Given the description of an element on the screen output the (x, y) to click on. 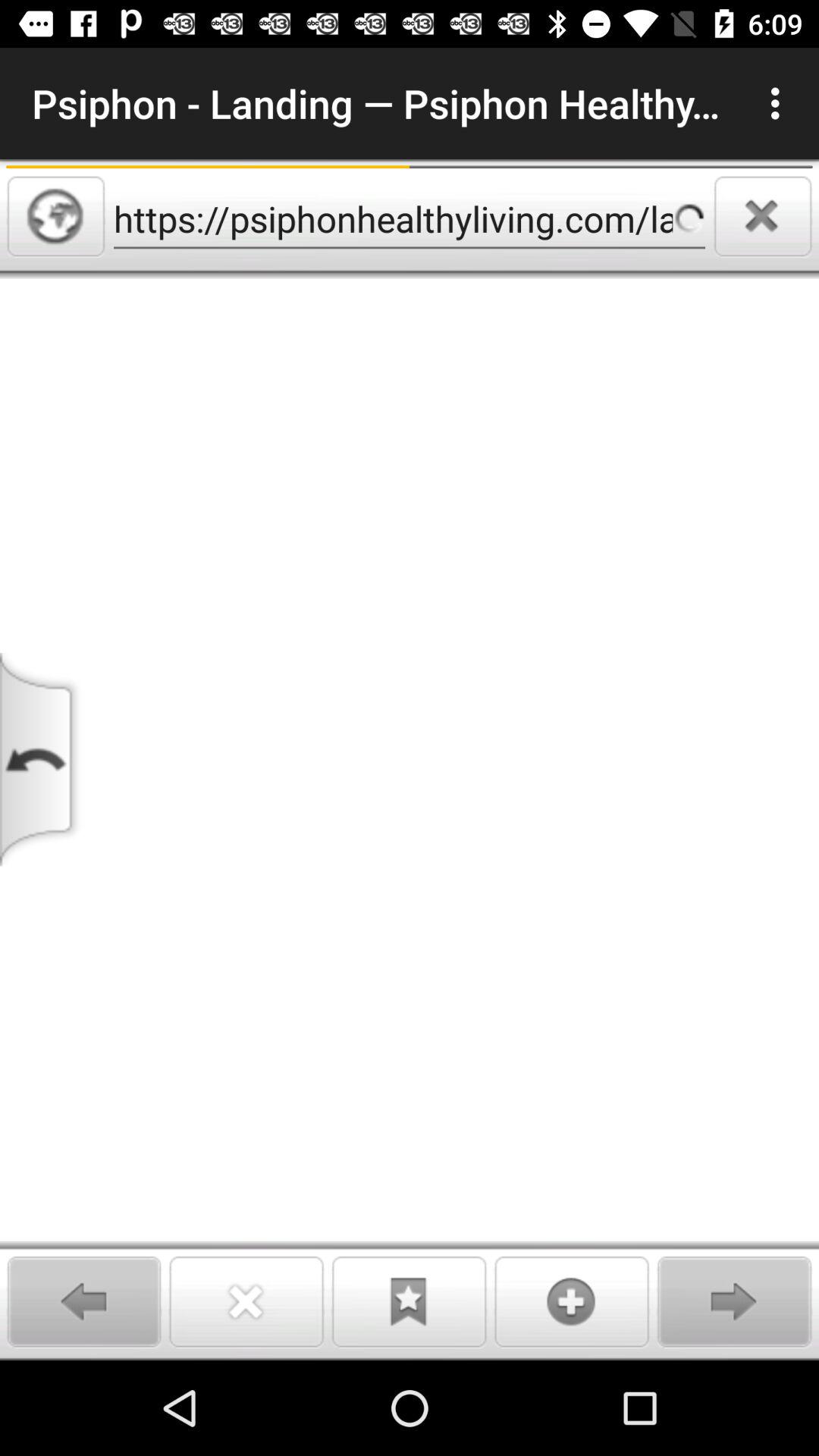
bookmark page (409, 1301)
